Given the description of an element on the screen output the (x, y) to click on. 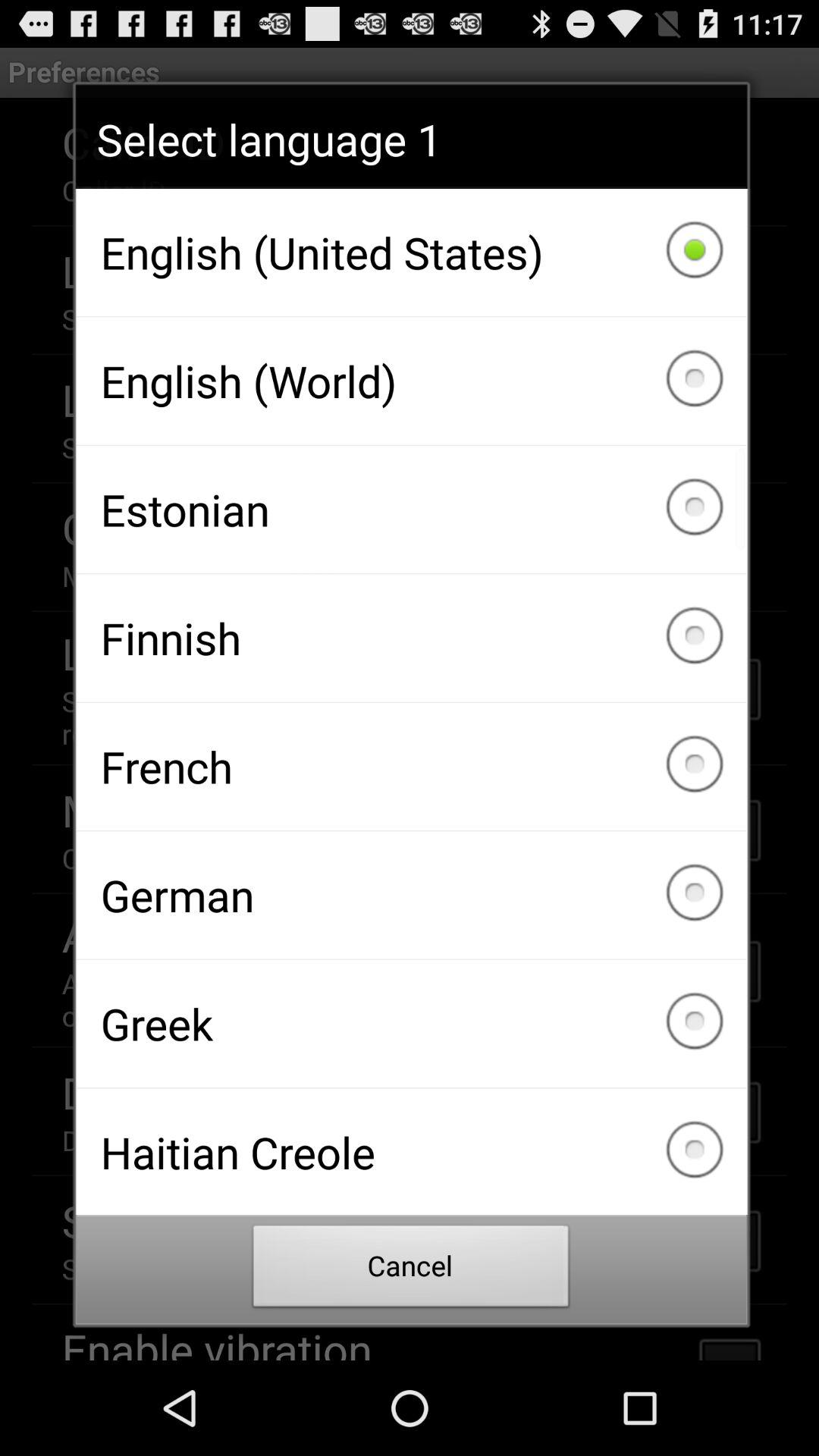
scroll to cancel icon (410, 1270)
